Given the description of an element on the screen output the (x, y) to click on. 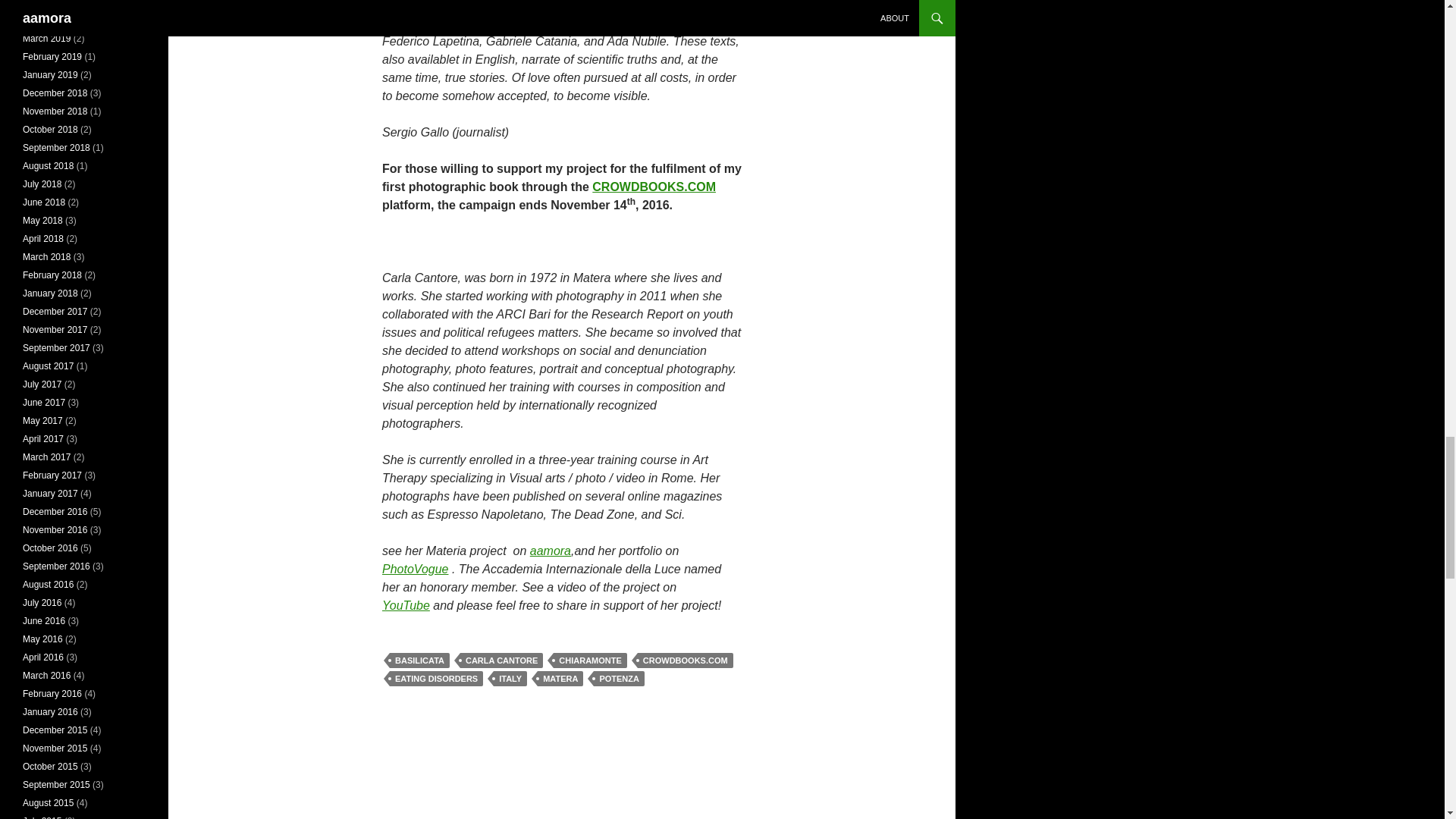
CARLA CANTORE (501, 660)
CHIARAMONTE (590, 660)
YouTube (405, 604)
ITALY (510, 678)
EATING DISORDERS (436, 678)
CROWDBOOKS.COM (685, 660)
MATERA (560, 678)
CROWDBOOKS.COM (654, 186)
PhotoVogue (414, 568)
POTENZA (619, 678)
BASILICATA (419, 660)
aamora (549, 550)
